Given the description of an element on the screen output the (x, y) to click on. 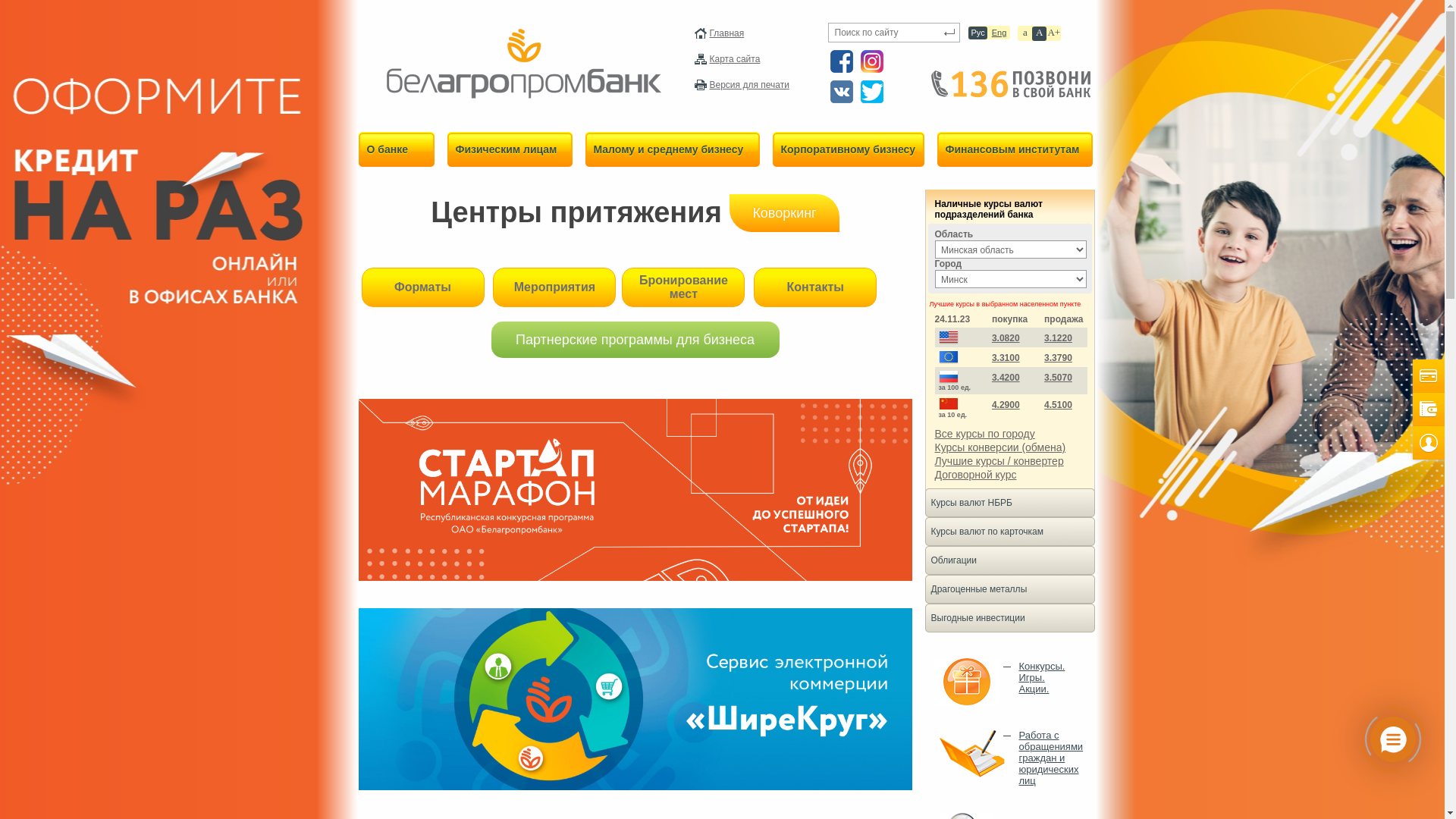
Eng Element type: text (998, 32)
3.4200 Element type: text (1005, 377)
4.2900 Element type: text (1005, 404)
3.3100 Element type: text (1005, 357)
3.5070 Element type: text (1058, 377)
A+ Element type: text (1053, 33)
4.5100 Element type: text (1058, 404)
3.3790 Element type: text (1058, 357)
A Element type: text (1039, 33)
a Element type: text (1024, 33)
3.0820 Element type: text (1005, 337)
3.1220 Element type: text (1058, 337)
